Given the description of an element on the screen output the (x, y) to click on. 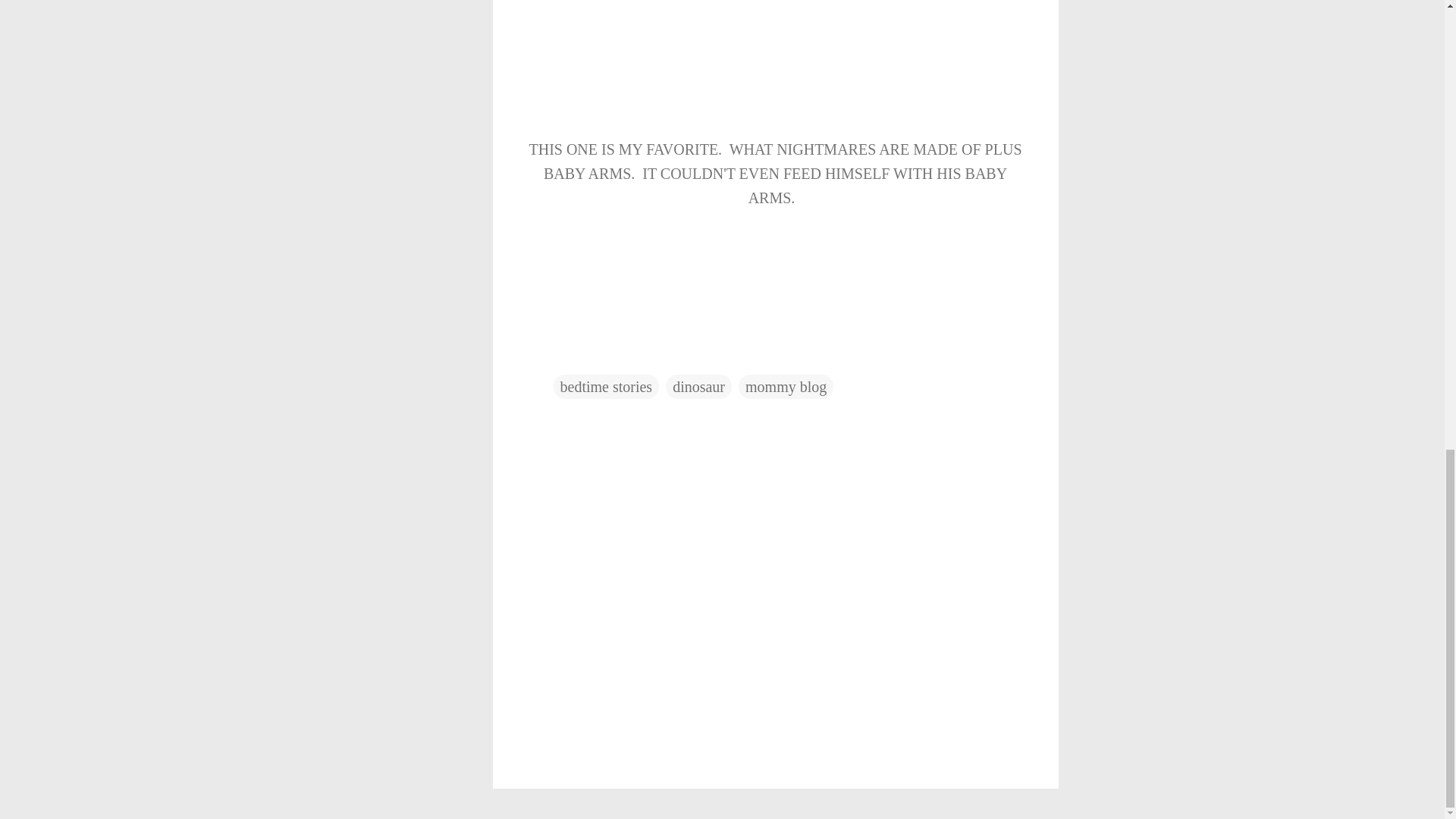
Email Post (562, 356)
bedtime stories (606, 386)
mommy blog (785, 386)
dinosaur (698, 386)
